Given the description of an element on the screen output the (x, y) to click on. 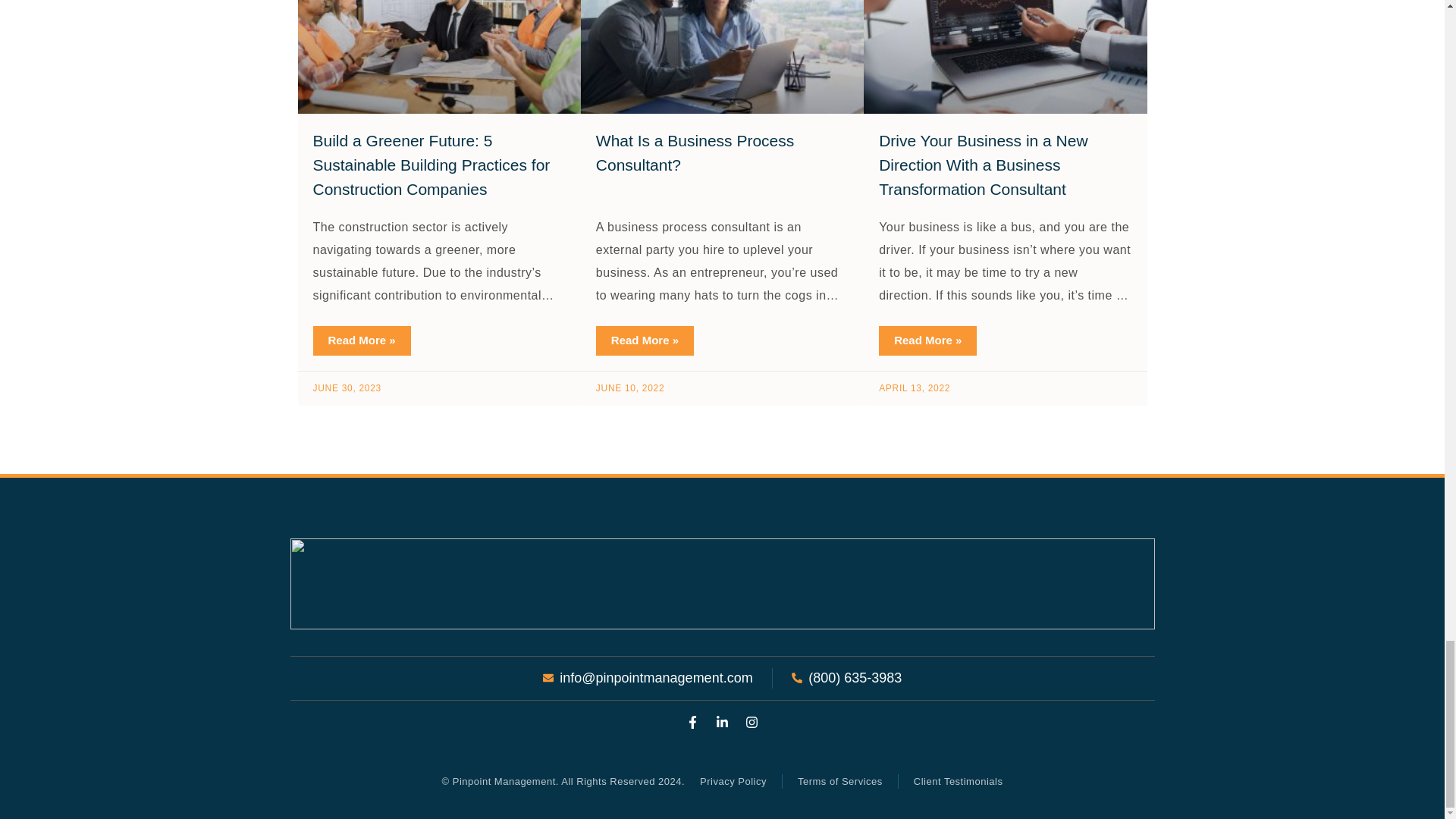
What Is a Business Process Consultant? (694, 152)
